Given the description of an element on the screen output the (x, y) to click on. 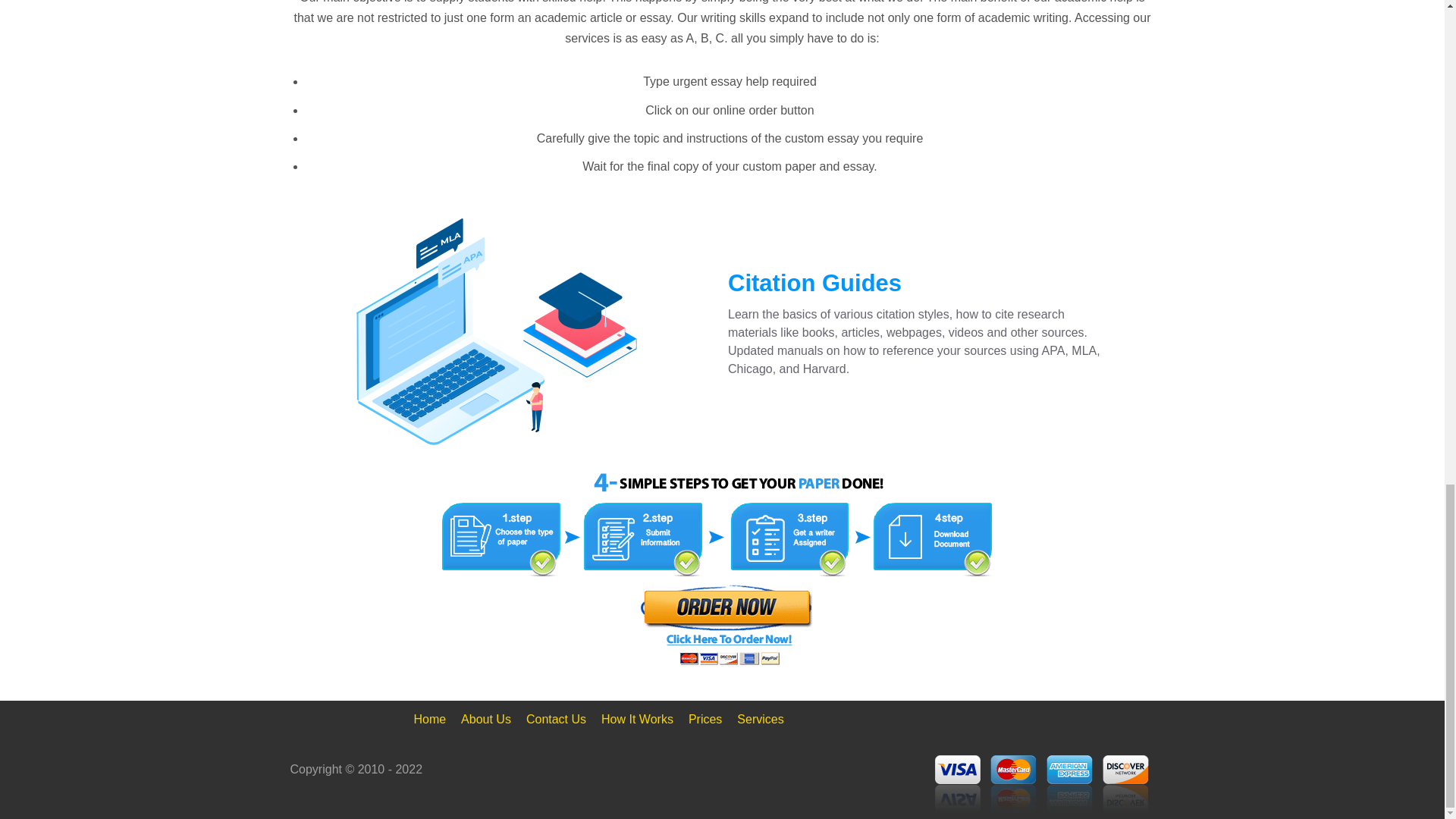
Prices (705, 719)
Contact Us (555, 719)
Home (429, 719)
Services (759, 719)
How It Works (636, 719)
About Us (486, 719)
